Given the description of an element on the screen output the (x, y) to click on. 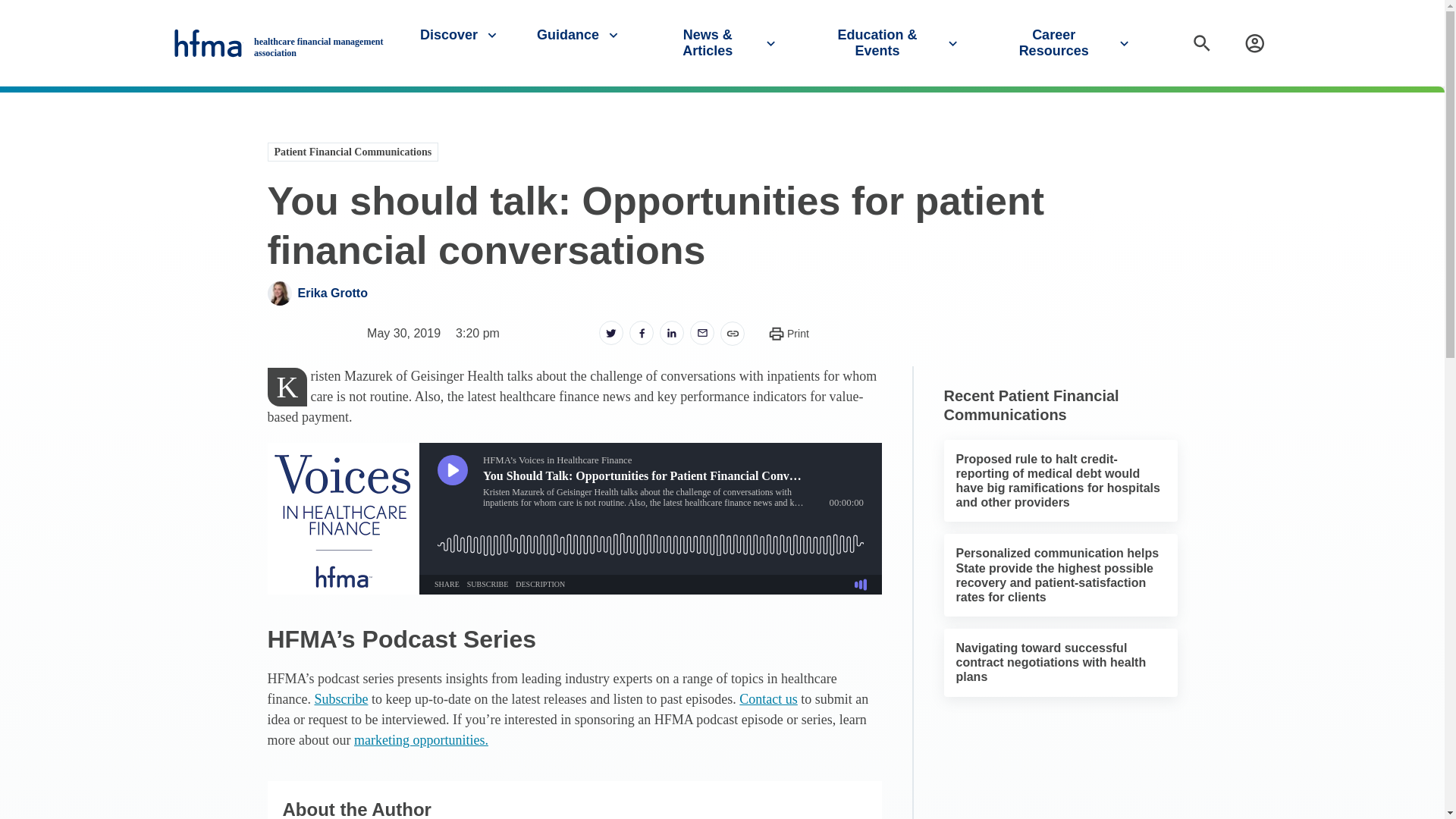
Guidance (579, 35)
Click to email a link to a friend (702, 332)
Career Resources (1064, 42)
Click to share on LinkedIn (671, 332)
Submit (1427, 101)
Click to share on Twitter (610, 332)
Click to share on Facebook (640, 332)
Discover (460, 35)
